Given the description of an element on the screen output the (x, y) to click on. 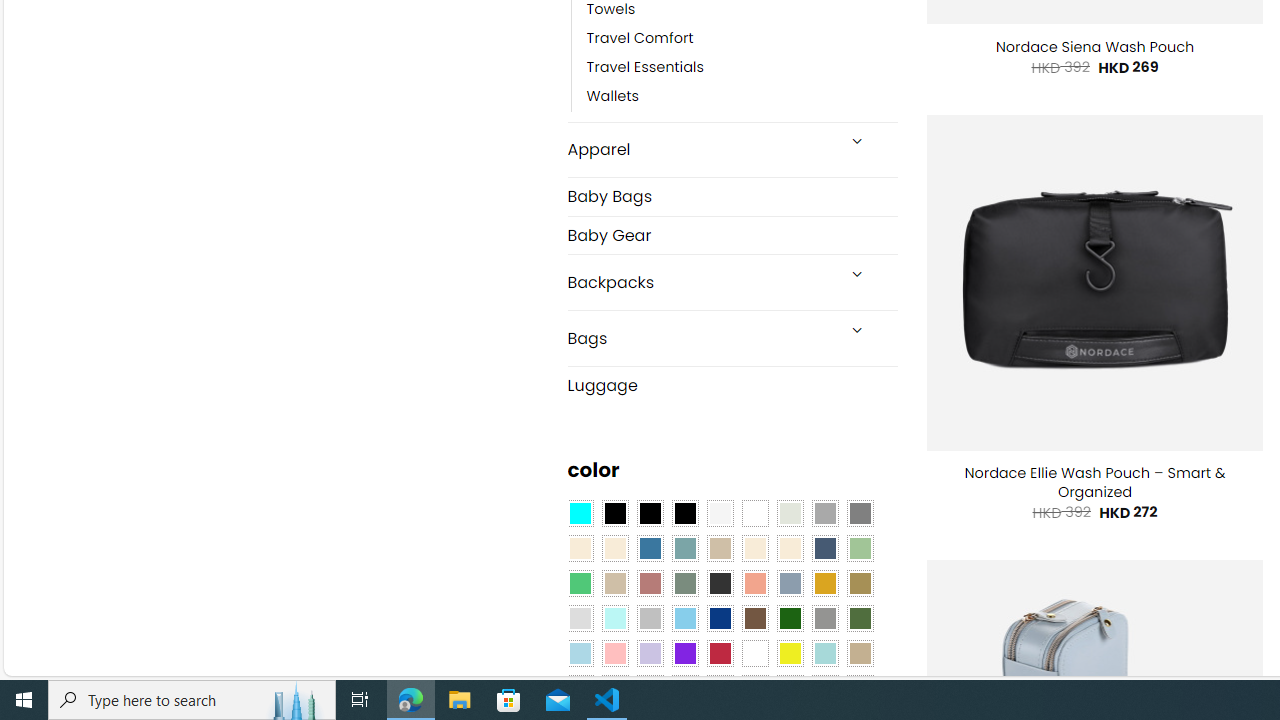
Navy Blue (719, 619)
Ash Gray (789, 514)
Aqua Blue (579, 514)
Light Blue (579, 653)
Wallets (742, 97)
Sage (684, 583)
Bags (700, 337)
Hale Navy (824, 548)
White (755, 653)
Mint (614, 619)
Apparel (700, 150)
All Gray (859, 514)
Dusty Blue (789, 583)
Light Gray (579, 619)
Caramel (755, 548)
